Given the description of an element on the screen output the (x, y) to click on. 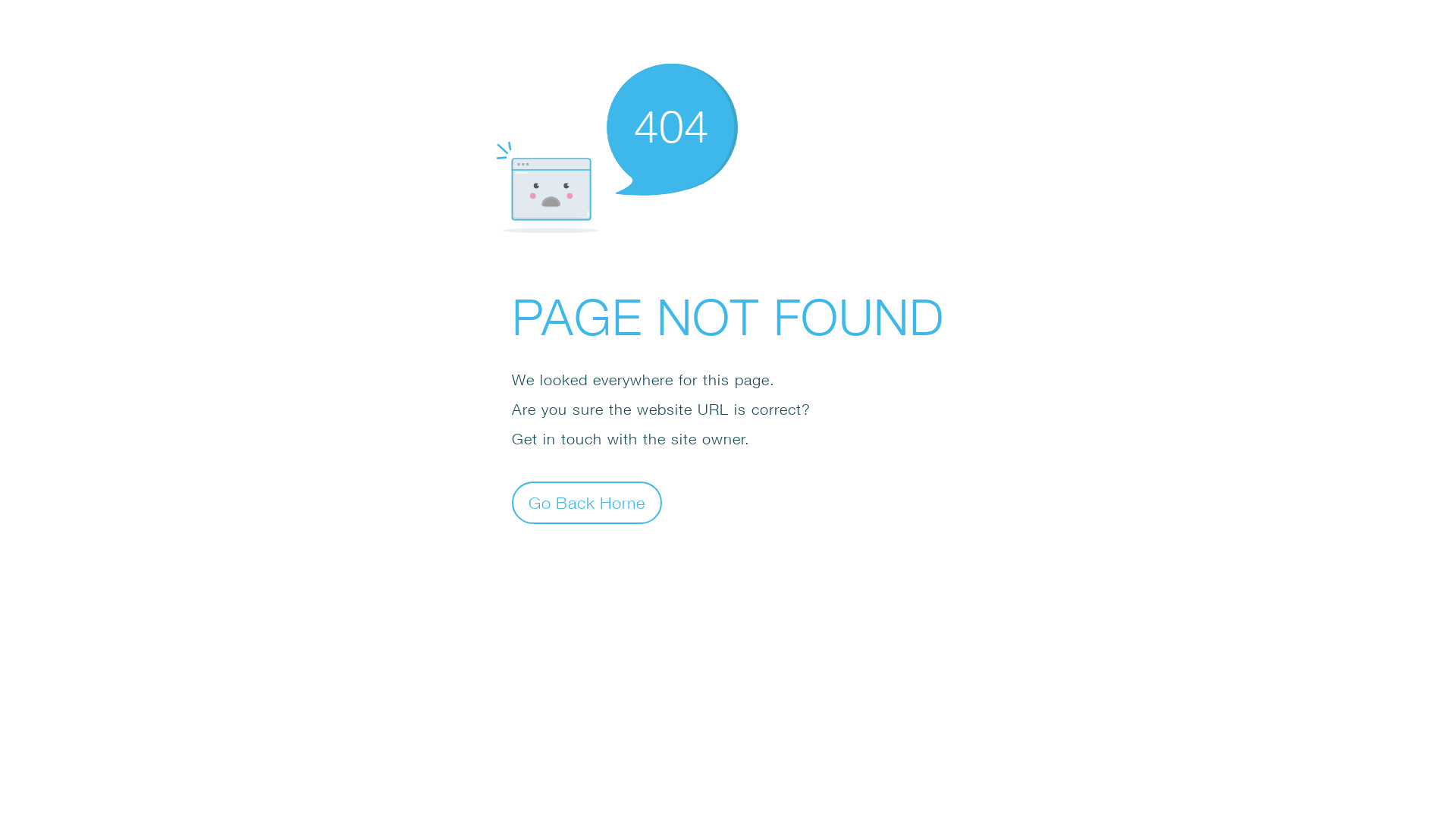
Go Back Home Element type: text (586, 502)
